Given the description of an element on the screen output the (x, y) to click on. 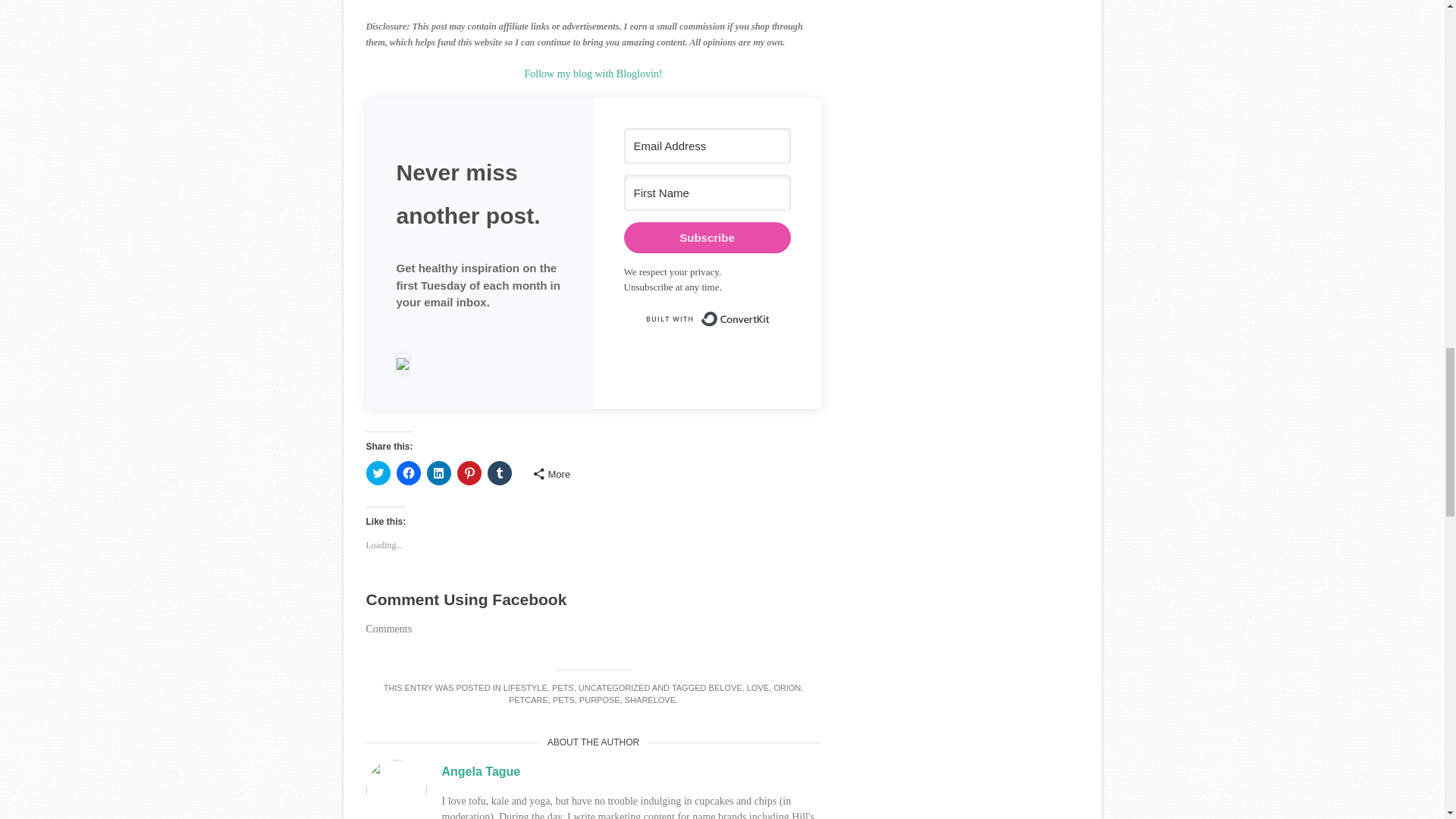
Click to share on Pinterest (468, 473)
LIFESTYLE (525, 687)
PETS (564, 699)
BELOVE (725, 687)
PURPOSE (599, 699)
PETS (562, 687)
Click to share on Twitter (377, 473)
Click to share on Facebook (408, 473)
Built with ConvertKit (707, 318)
ORION (786, 687)
